Given the description of an element on the screen output the (x, y) to click on. 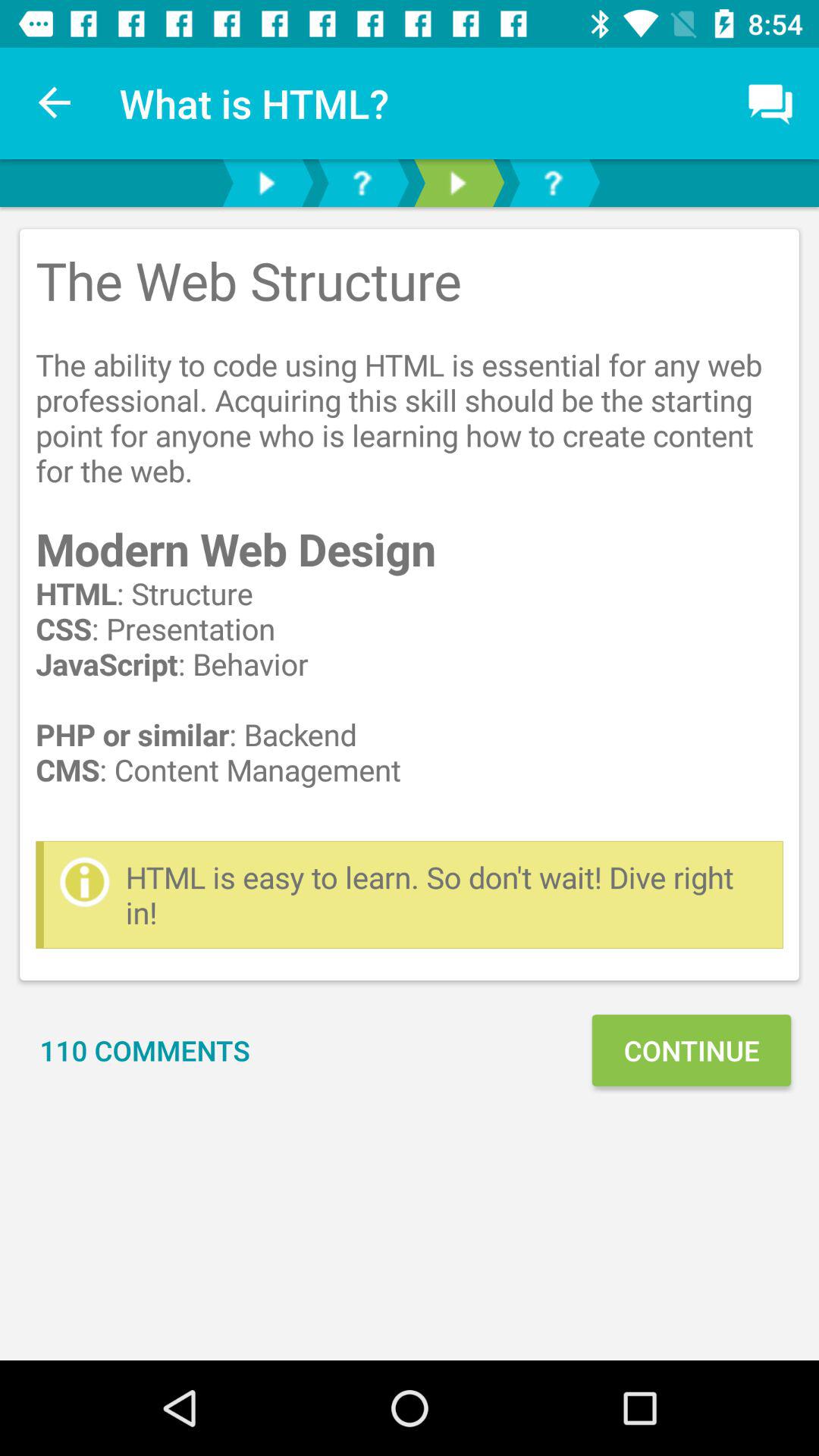
flip to continue (691, 1050)
